Given the description of an element on the screen output the (x, y) to click on. 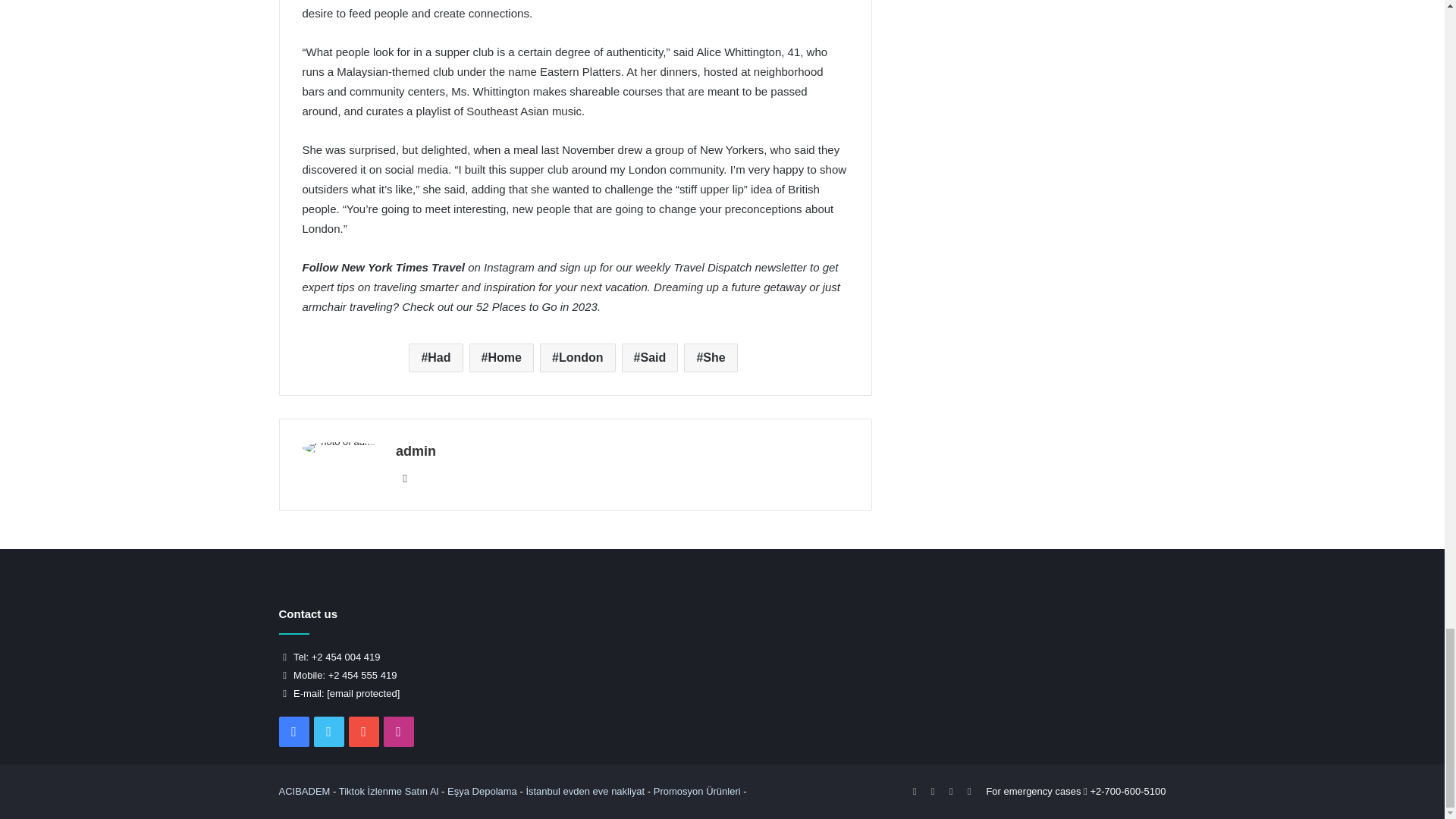
Website (404, 478)
ACIBADEM (304, 790)
She (710, 357)
London (577, 357)
admin (415, 450)
Had (436, 357)
Said (649, 357)
Home (501, 357)
